Given the description of an element on the screen output the (x, y) to click on. 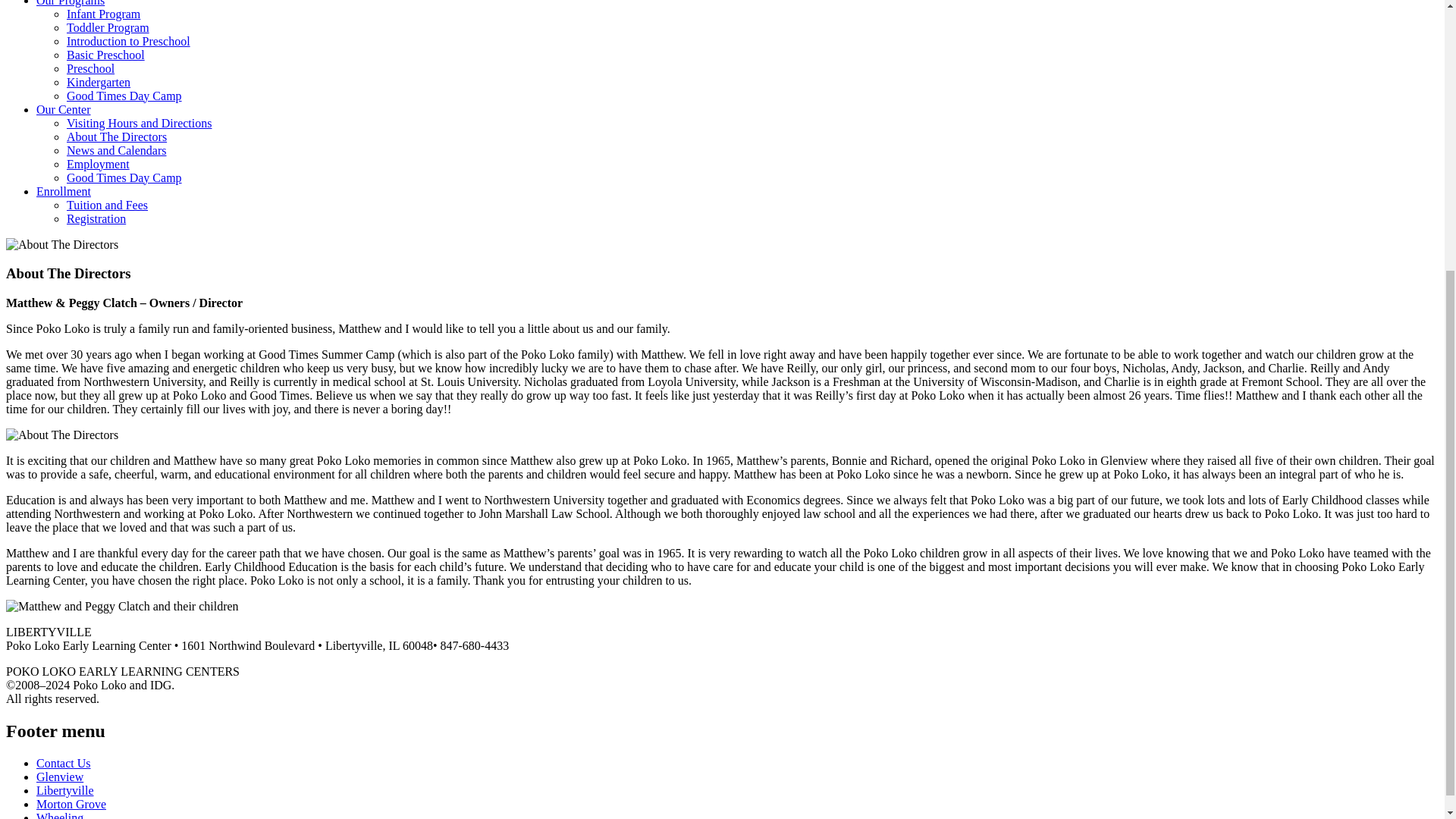
Good Times Day Camp (124, 95)
Enrollment (63, 191)
Basic Preschool (105, 54)
Good Times Day Camp (124, 177)
Our Programs (70, 3)
Employment (97, 164)
Our Center (63, 109)
Libertyville (65, 789)
Infant Program (102, 13)
Kindergarten (98, 82)
Registration (95, 218)
Morton Grove (71, 803)
Toddler Program (107, 27)
Preschool (90, 68)
About The Directors (116, 136)
